Given the description of an element on the screen output the (x, y) to click on. 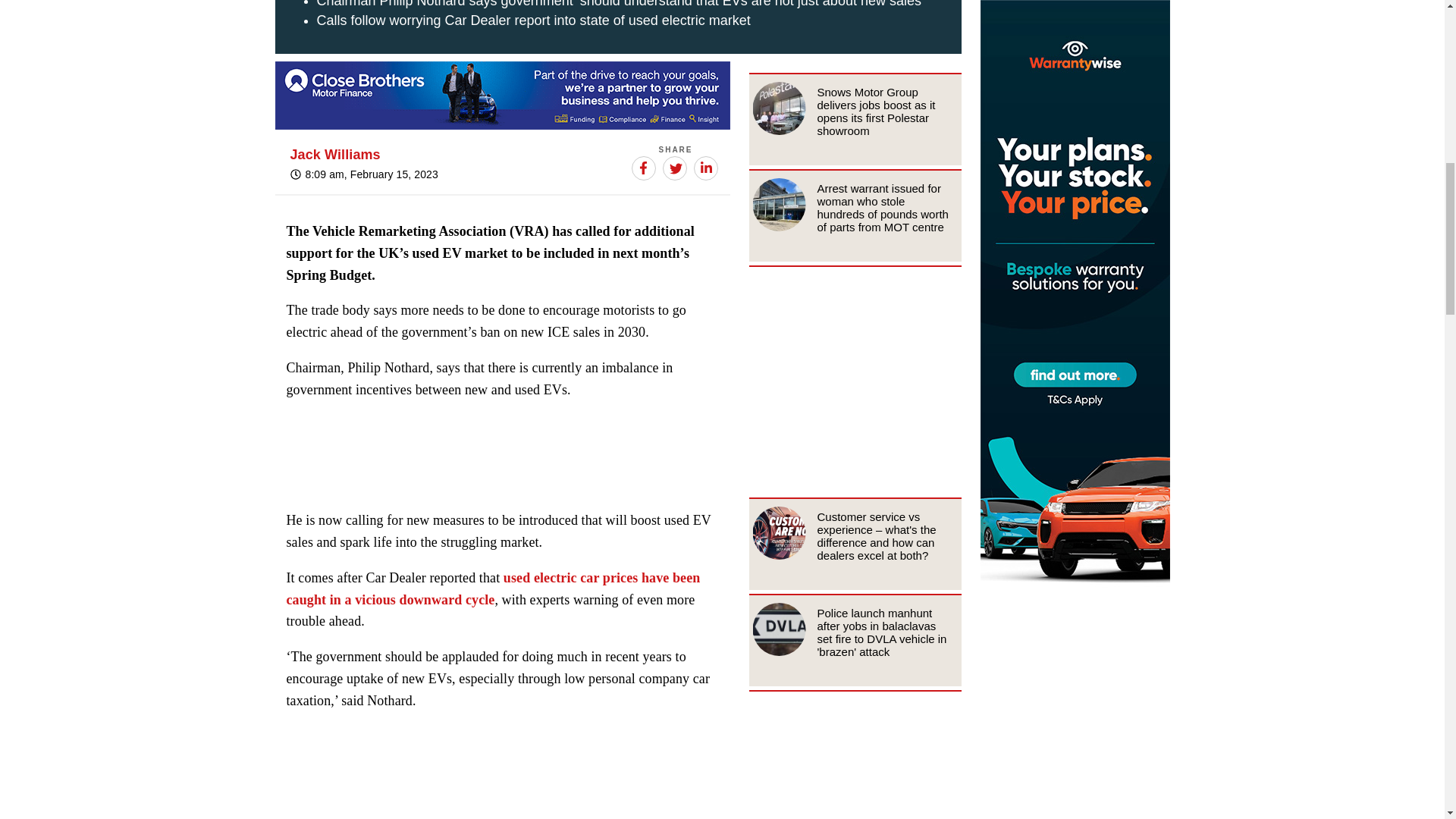
Posts by Jack Williams (334, 154)
Jack Williams (334, 154)
